Given the description of an element on the screen output the (x, y) to click on. 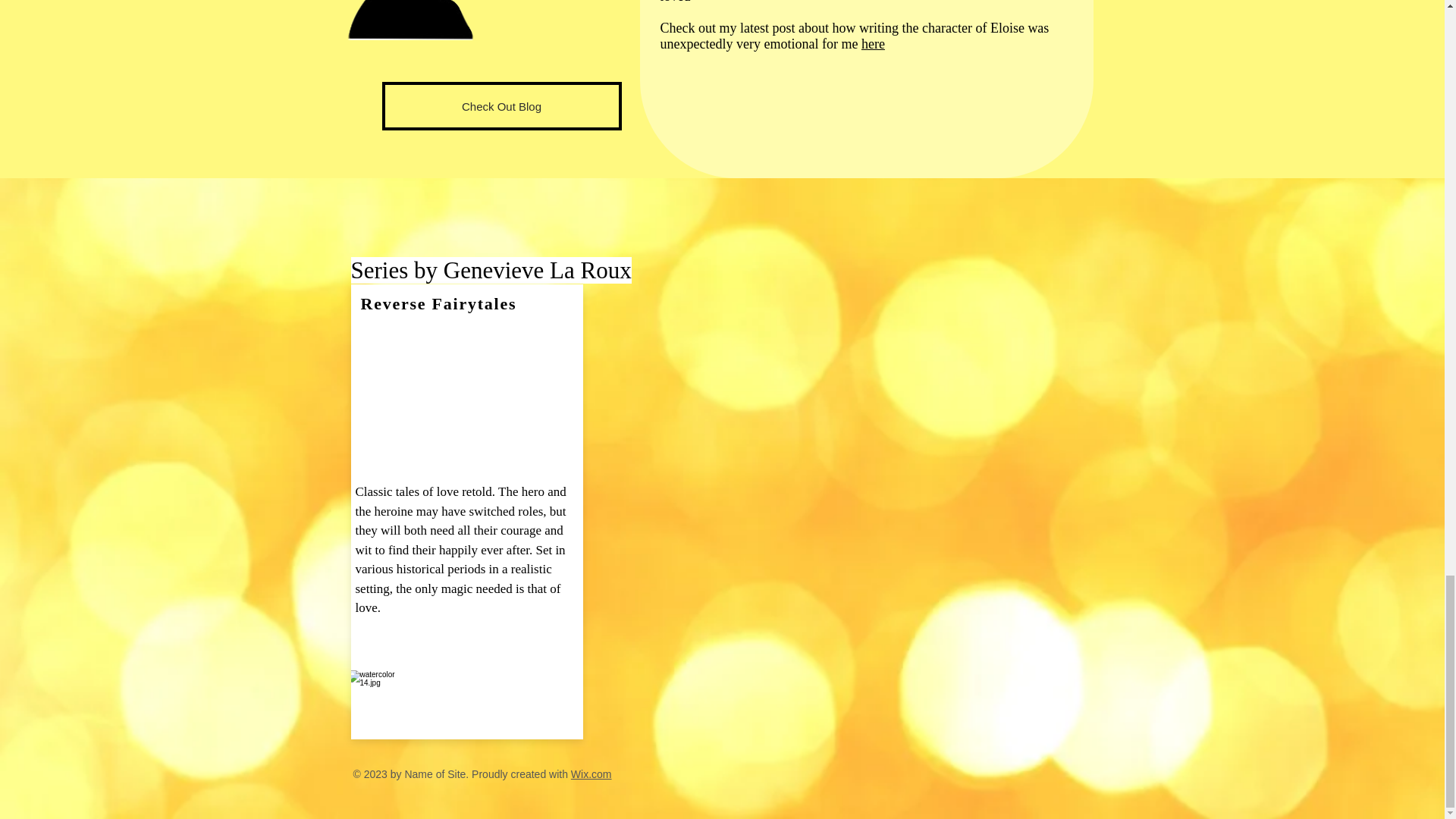
Wix.com (590, 774)
Learn More (503, 684)
here (873, 43)
Check Out Blog (501, 105)
